Given the description of an element on the screen output the (x, y) to click on. 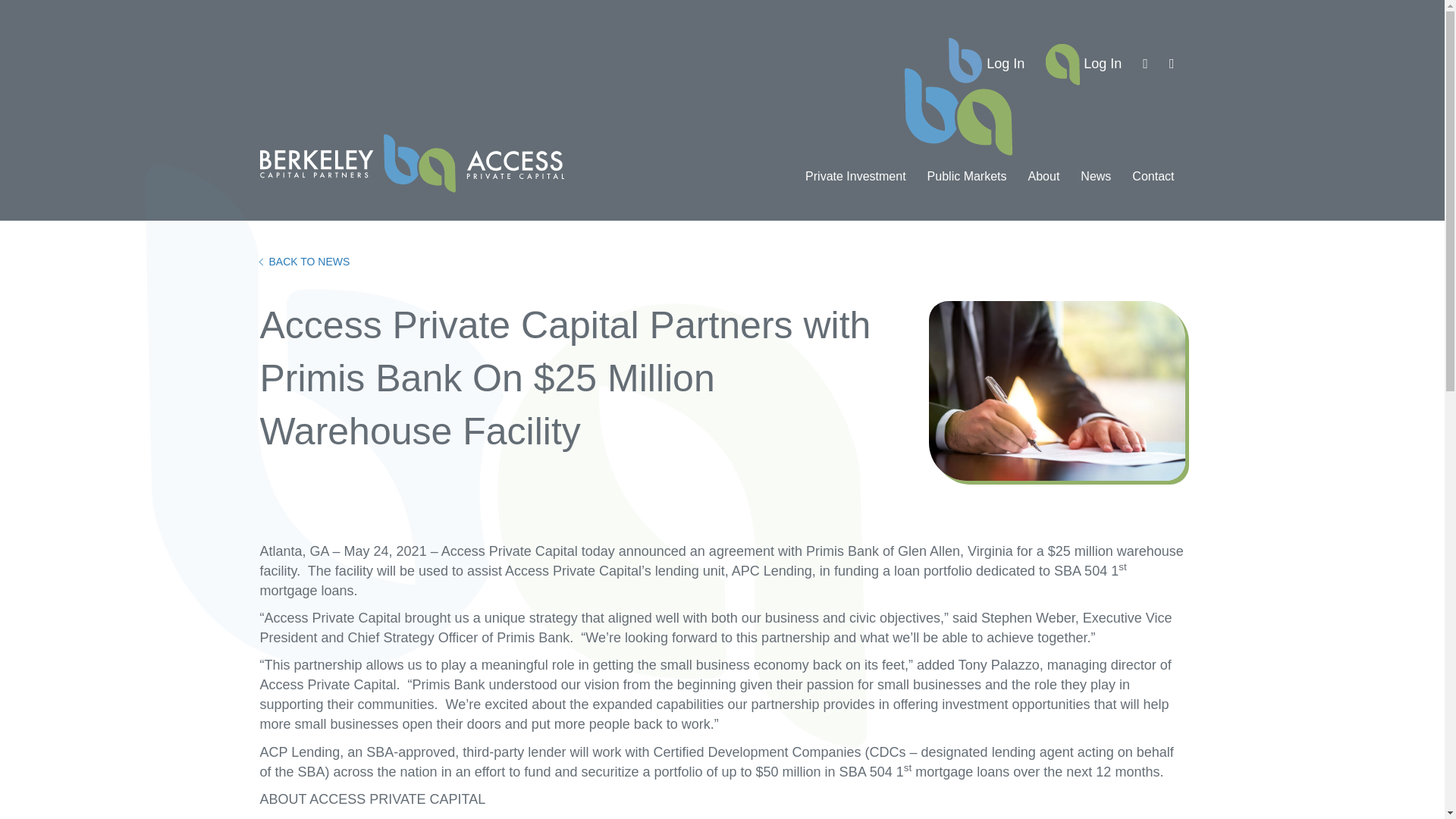
Log In (1083, 63)
Businessman Is Signing A Legal Document In Office (1056, 390)
Log In (986, 63)
BACK TO NEWS (304, 261)
Private Investment (855, 184)
News (1095, 184)
Public Markets (967, 184)
Contact (1153, 184)
About (1043, 184)
